Given the description of an element on the screen output the (x, y) to click on. 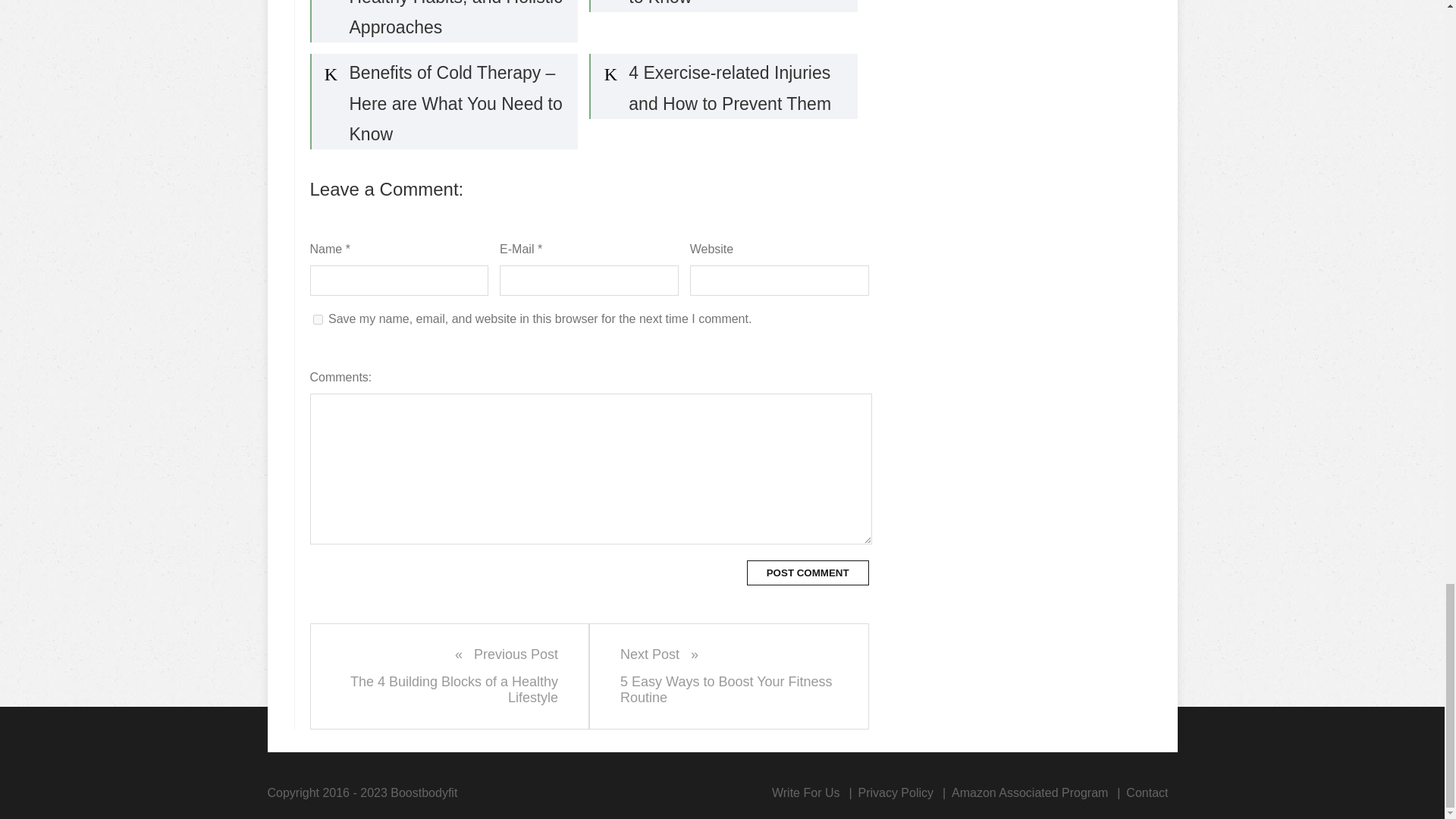
4 Exercise-related Injuries and How to Prevent Them (723, 86)
Post Comment (807, 572)
Amazon Associated Program (1030, 792)
Contact (1146, 792)
Privacy Policy (728, 676)
Write For Us (895, 792)
Post Comment (450, 676)
yes (805, 792)
